Given the description of an element on the screen output the (x, y) to click on. 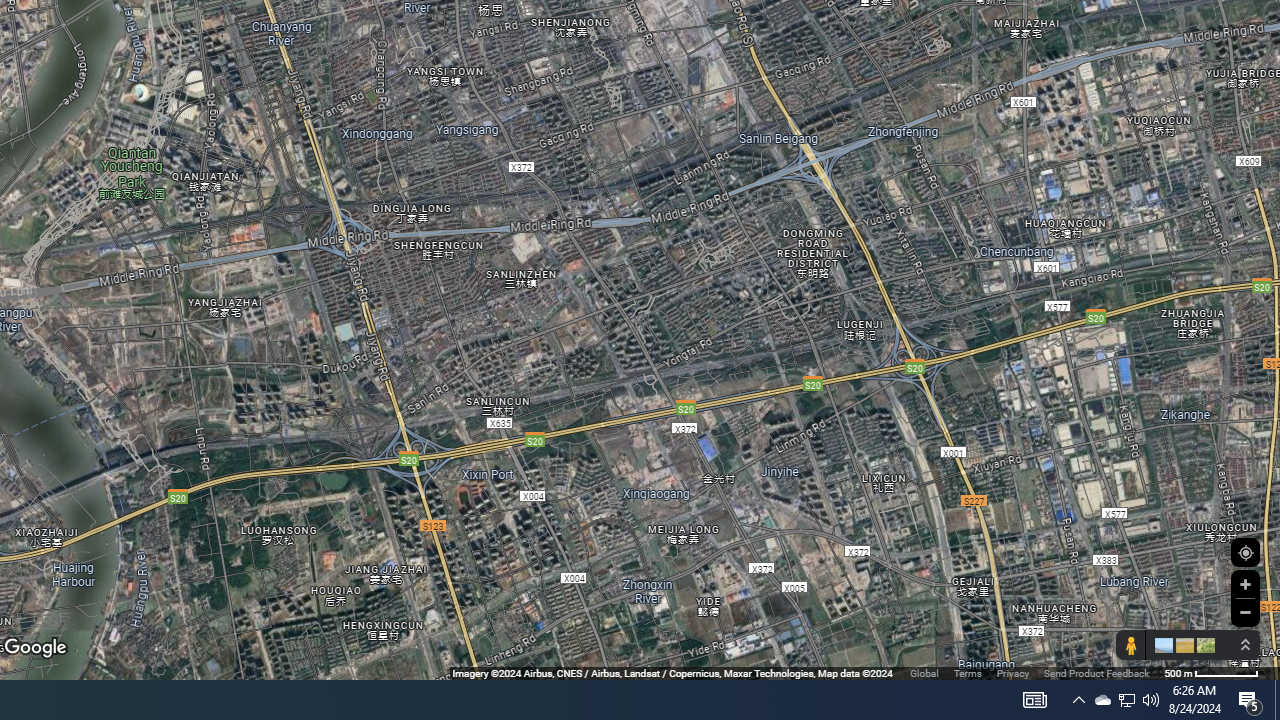
Show Street View coverage (1130, 645)
Global (924, 672)
500 m (1211, 672)
Zoom out (1245, 612)
Zoom in (1245, 584)
Send Product Feedback (1096, 672)
Show imagery (1202, 645)
Show Your Location (1245, 552)
